Given the description of an element on the screen output the (x, y) to click on. 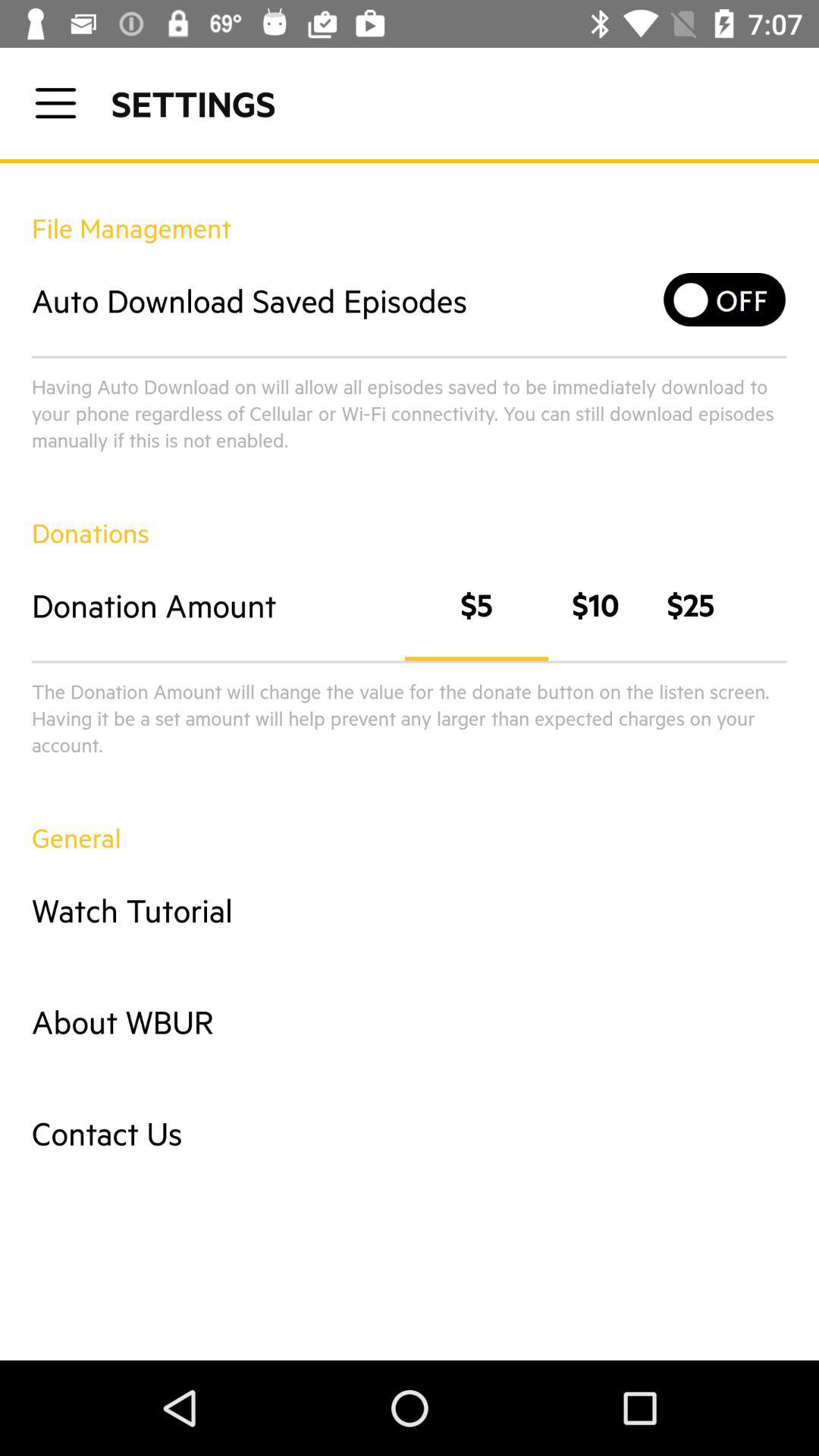
launch the contact us (409, 1132)
